Given the description of an element on the screen output the (x, y) to click on. 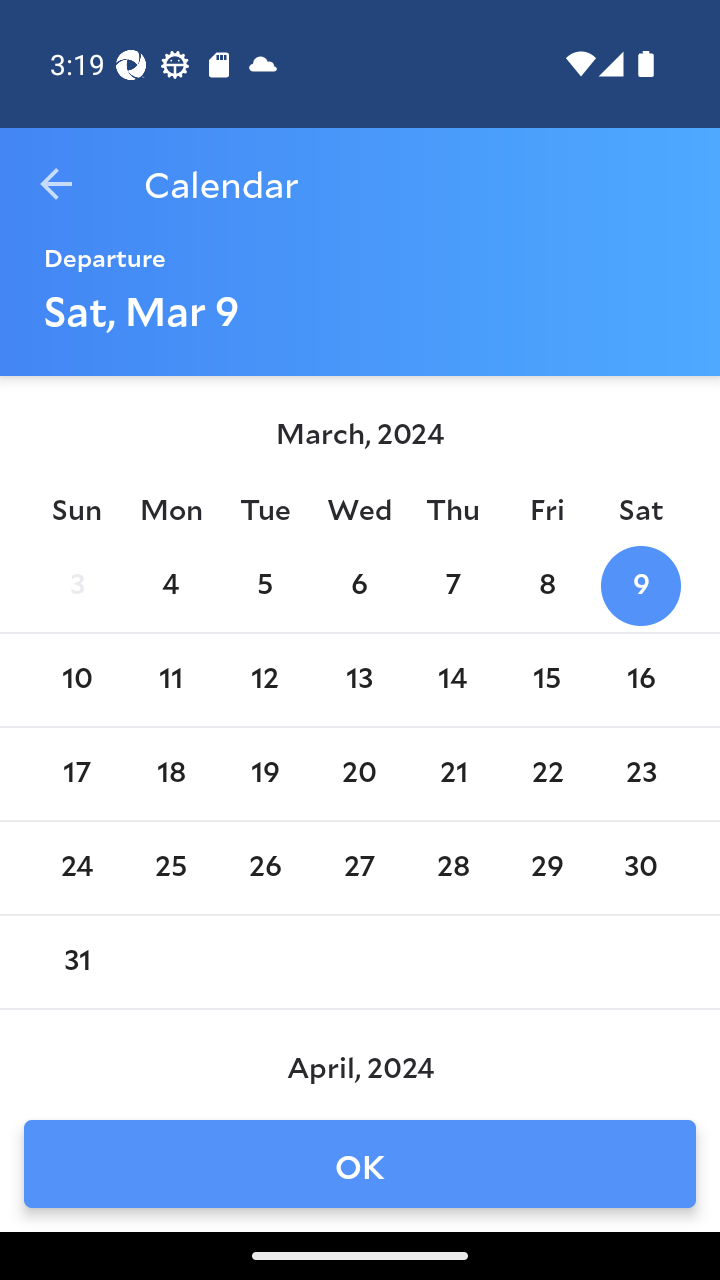
Navigate up (56, 184)
3 (76, 585)
4 (170, 585)
5 (264, 585)
6 (358, 585)
7 (453, 585)
8 (546, 585)
9 (641, 585)
10 (76, 679)
11 (170, 679)
12 (264, 679)
13 (358, 679)
14 (453, 679)
15 (546, 679)
16 (641, 679)
17 (76, 773)
18 (170, 773)
19 (264, 773)
20 (358, 773)
21 (453, 773)
22 (546, 773)
23 (641, 773)
24 (76, 867)
25 (170, 867)
26 (264, 867)
27 (358, 867)
28 (453, 867)
29 (546, 867)
30 (641, 867)
31 (76, 961)
OK (359, 1164)
